Given the description of an element on the screen output the (x, y) to click on. 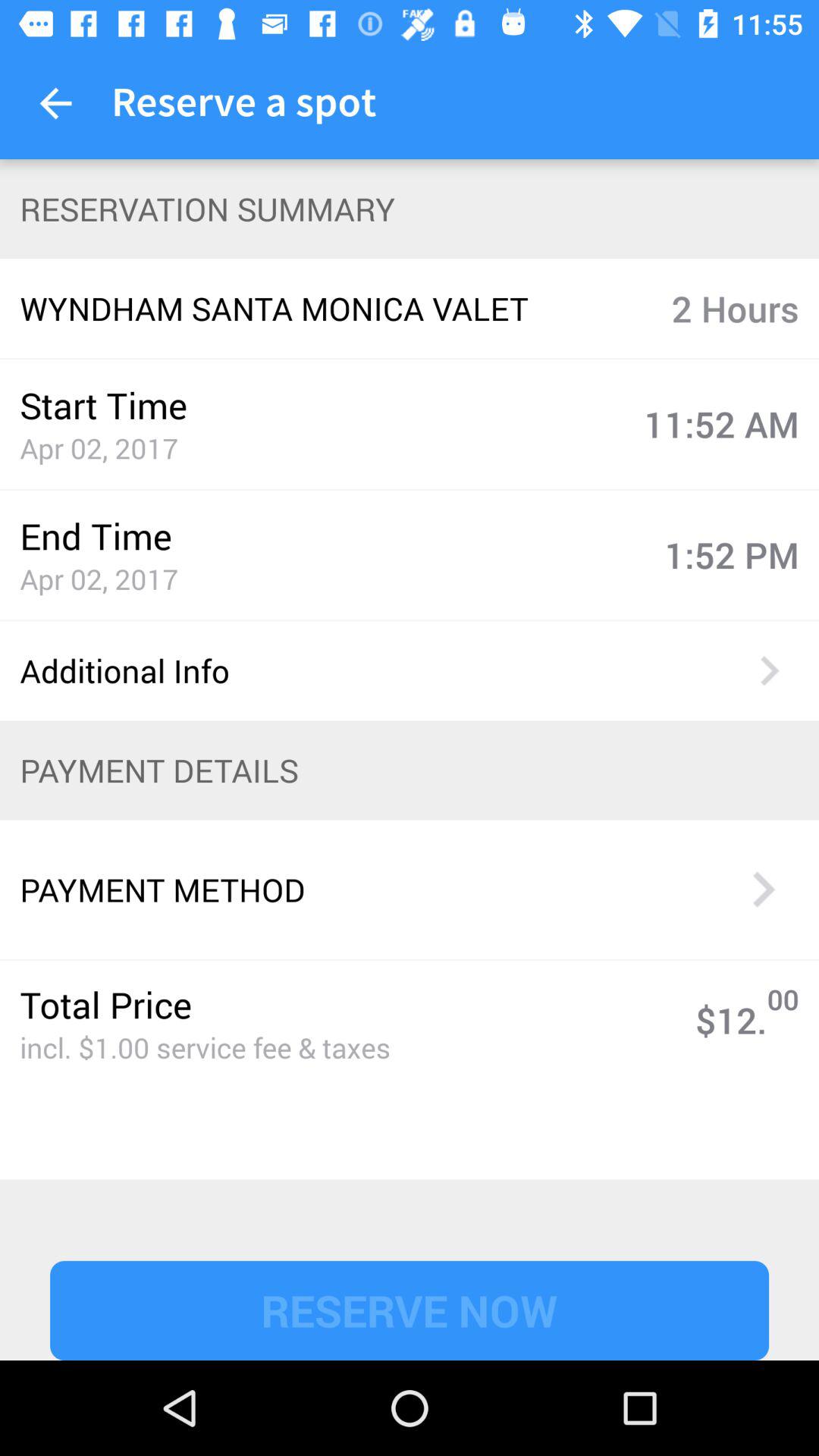
turn off item next to reserve a spot (55, 103)
